Given the description of an element on the screen output the (x, y) to click on. 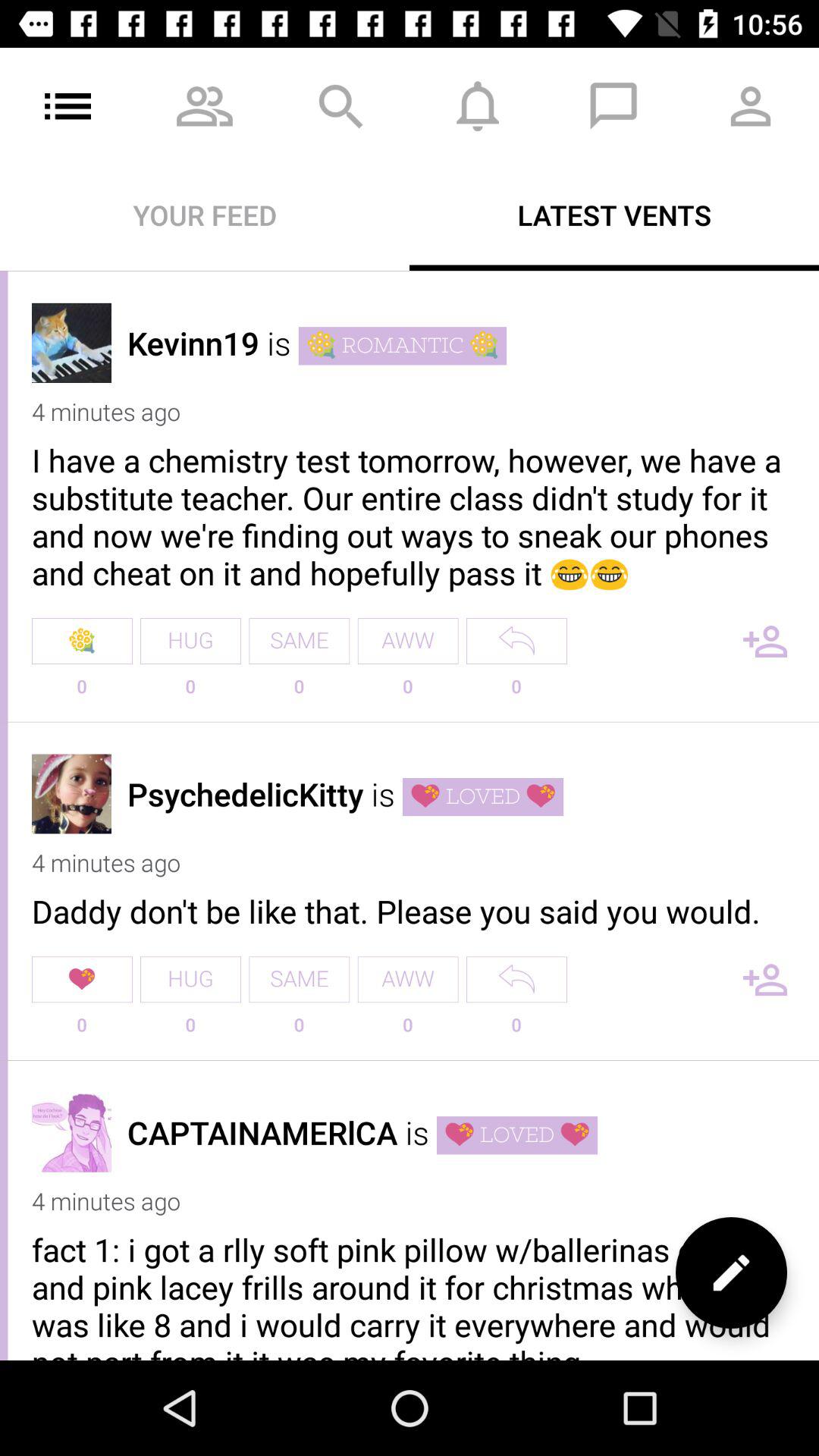
go to user 's account (71, 793)
